Given the description of an element on the screen output the (x, y) to click on. 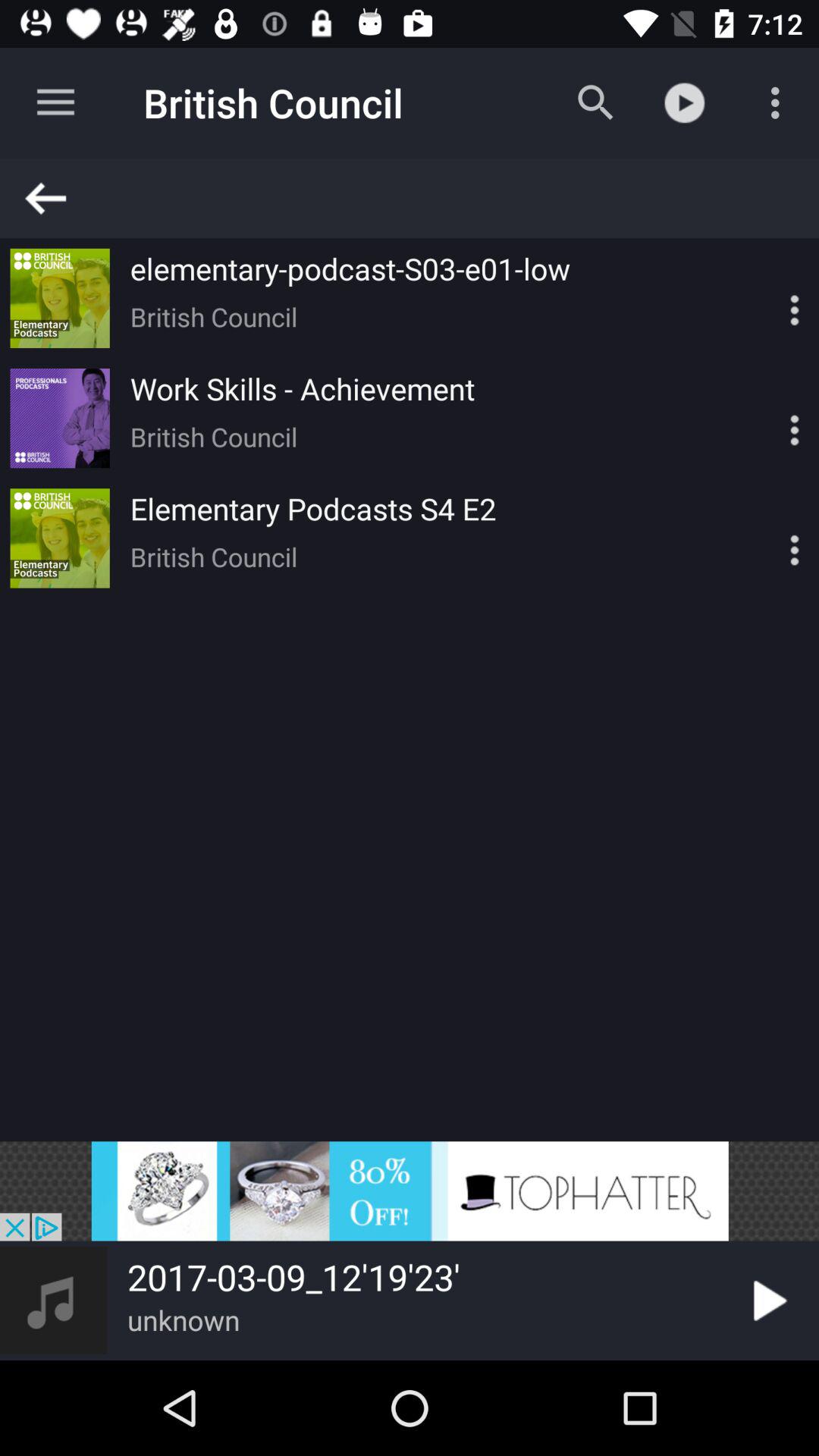
mp3 player (409, 1191)
